Given the description of an element on the screen output the (x, y) to click on. 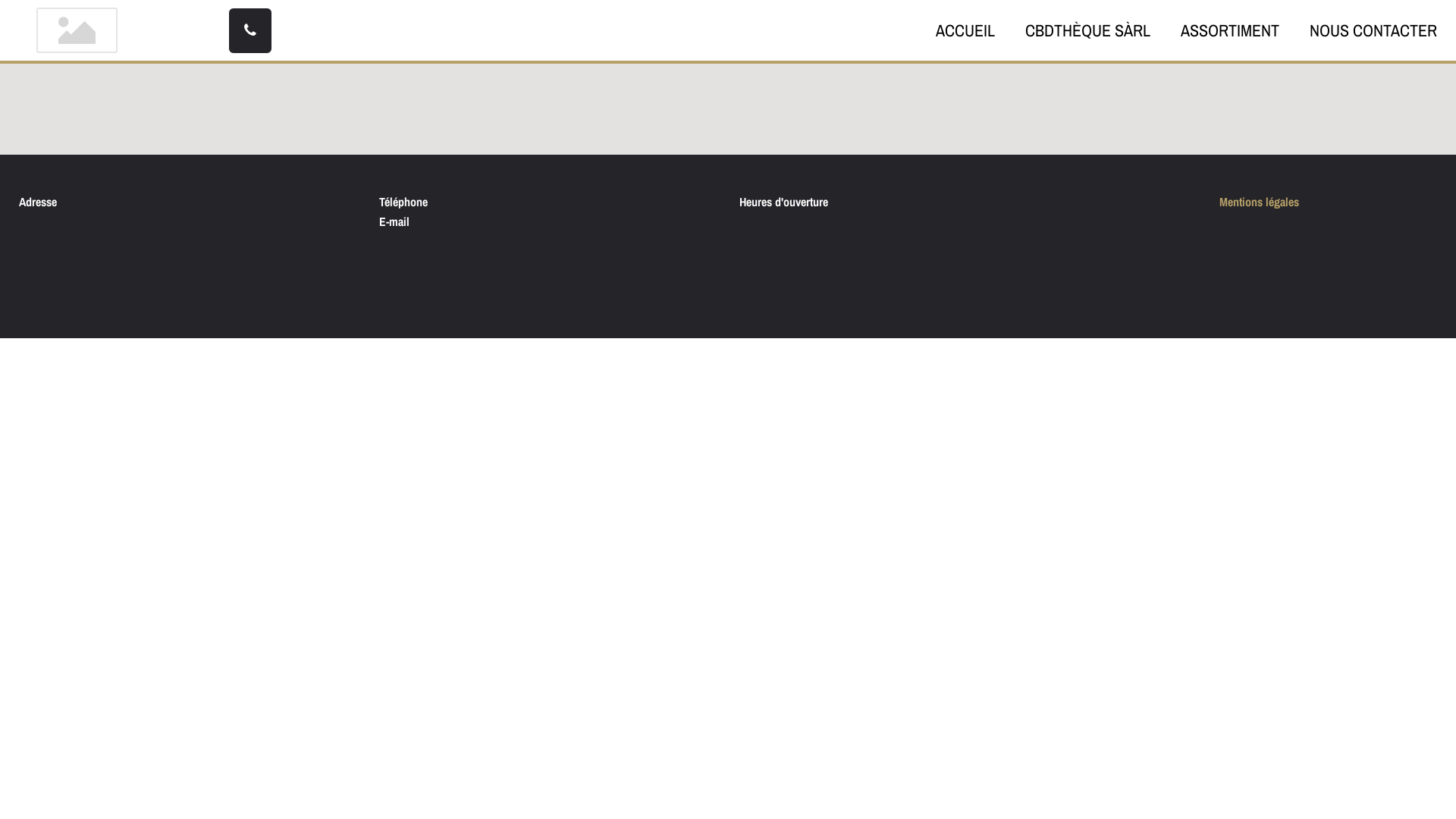
NOUS CONTACTER Element type: text (1373, 30)
ACCUEIL Element type: text (964, 30)
ASSORTIMENT Element type: text (1229, 30)
